Given the description of an element on the screen output the (x, y) to click on. 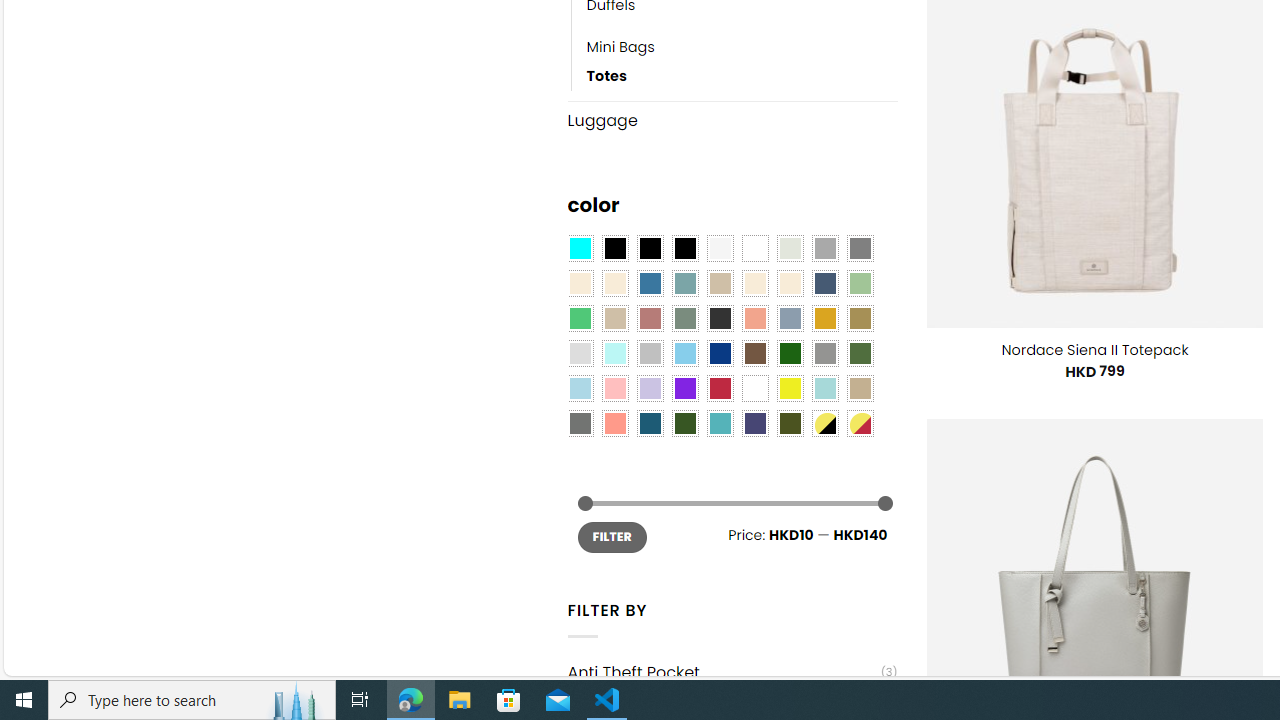
Mini Bags (742, 48)
Silver (650, 354)
Light Taupe (614, 318)
Teal (719, 424)
Dull Nickle (579, 424)
Anti Theft Pocket(3) (732, 672)
Caramel (755, 283)
Mini Bags (620, 48)
Sky Blue (684, 354)
Rose (650, 318)
Purple (684, 388)
Ash Gray (789, 249)
Mint (614, 354)
Capri Blue (650, 424)
Gray (824, 354)
